Given the description of an element on the screen output the (x, y) to click on. 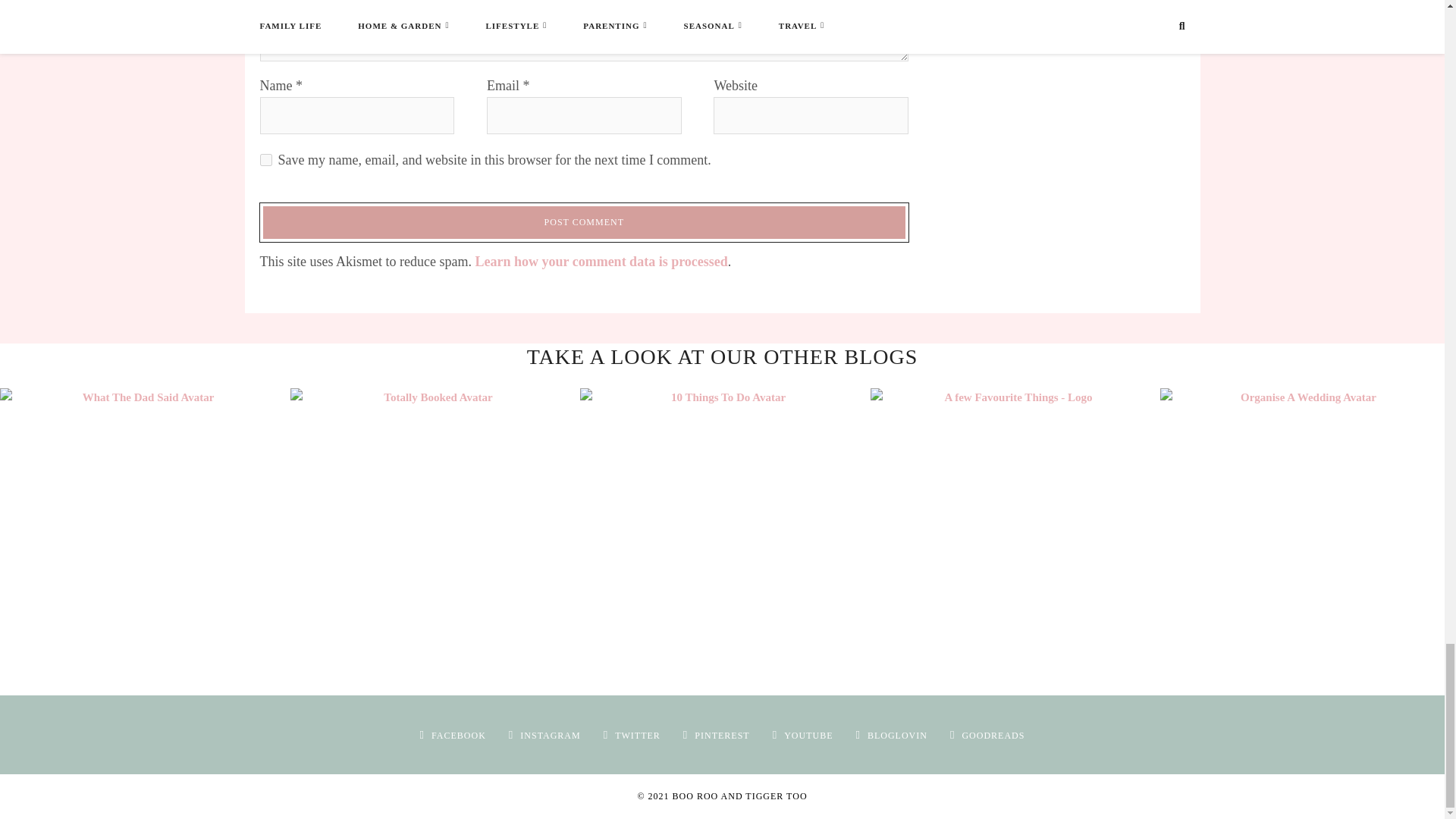
yes (264, 159)
Post Comment (583, 222)
